Given the description of an element on the screen output the (x, y) to click on. 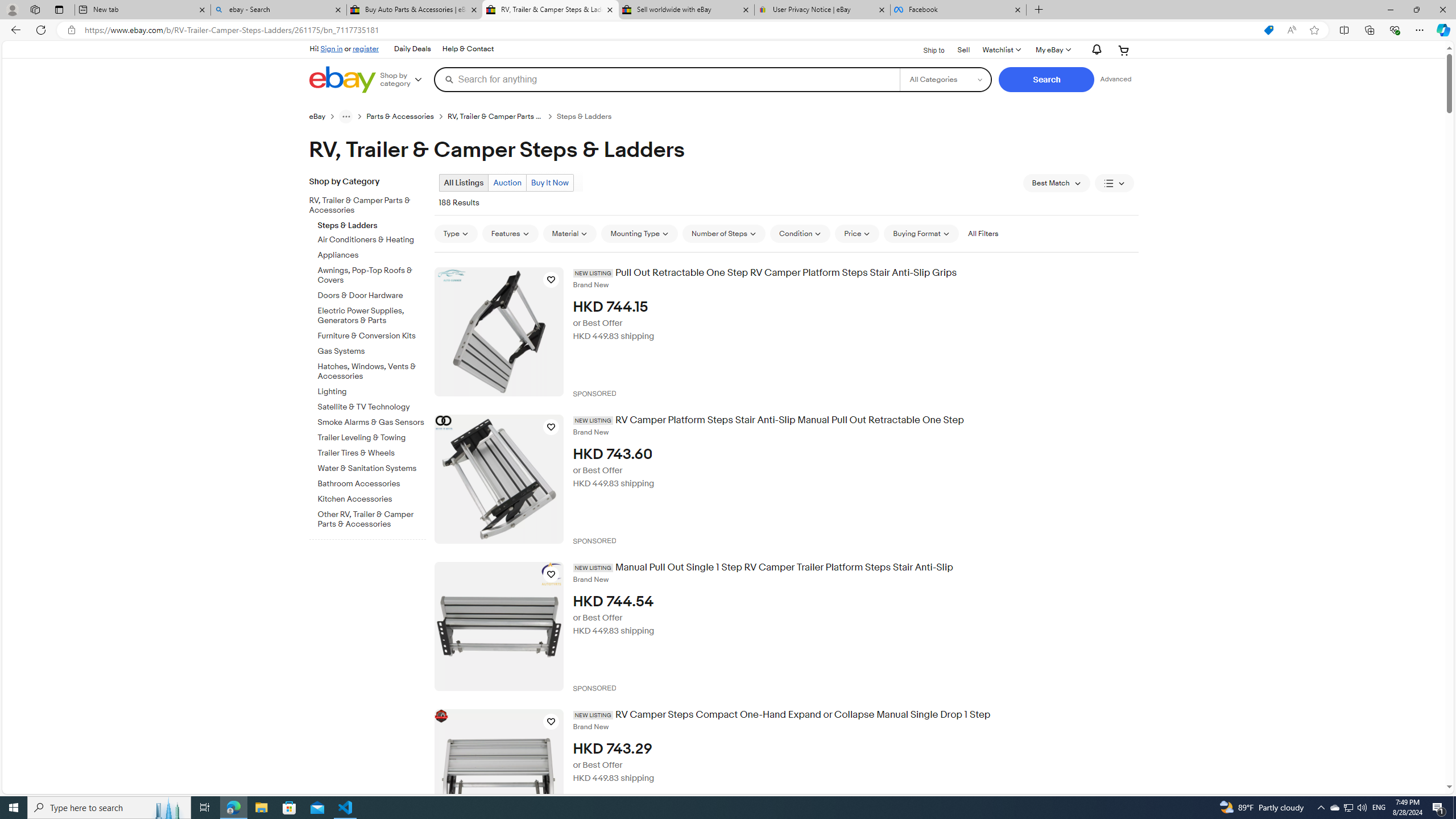
Close (1442, 9)
Trailer Tires & Wheels (371, 450)
Buying Format (921, 233)
Mounting Type (639, 233)
Notifications (1093, 49)
eBay Home (341, 79)
WatchlistExpand Watch List (1000, 49)
Ship to (926, 50)
Sign in (331, 48)
Air Conditioners & Heating (371, 240)
Furniture & Conversion Kits (371, 335)
Kitchen Accessories (371, 497)
Condition (800, 233)
Add this page to favorites (Ctrl+D) (1314, 29)
